Given the description of an element on the screen output the (x, y) to click on. 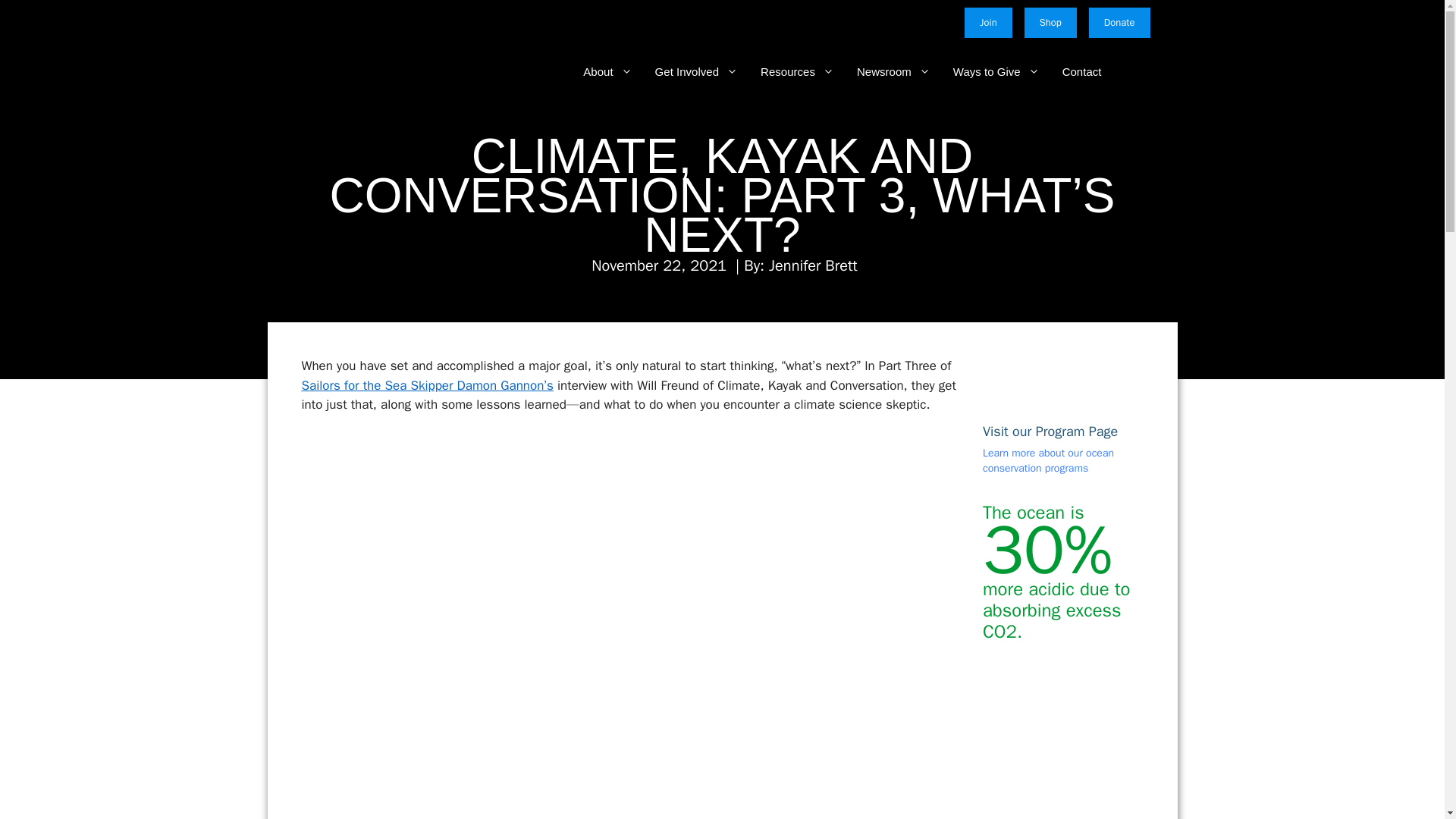
Sailors for the Sea (353, 70)
Newsroom (882, 72)
Join (987, 22)
About (595, 72)
Get Involved (684, 72)
Shop (1051, 22)
Donate (1119, 22)
Resources (786, 72)
Ways to Give (984, 72)
